Given the description of an element on the screen output the (x, y) to click on. 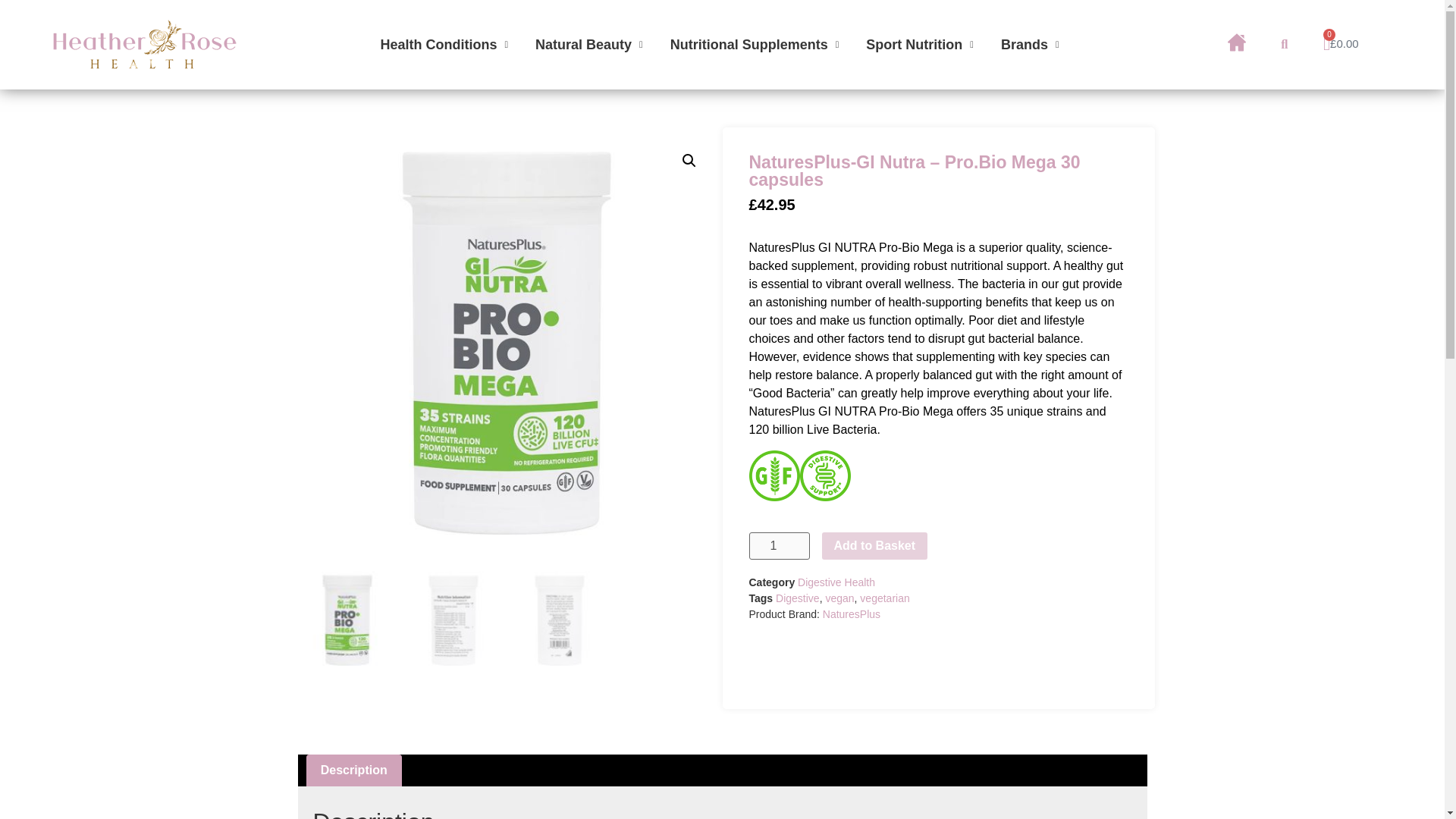
Nutritional Supplements (754, 44)
Qty (779, 545)
Brands (1030, 44)
1 (779, 545)
Natural Beauty (588, 44)
Sport Nutrition (919, 44)
Health Conditions (443, 44)
